Given the description of an element on the screen output the (x, y) to click on. 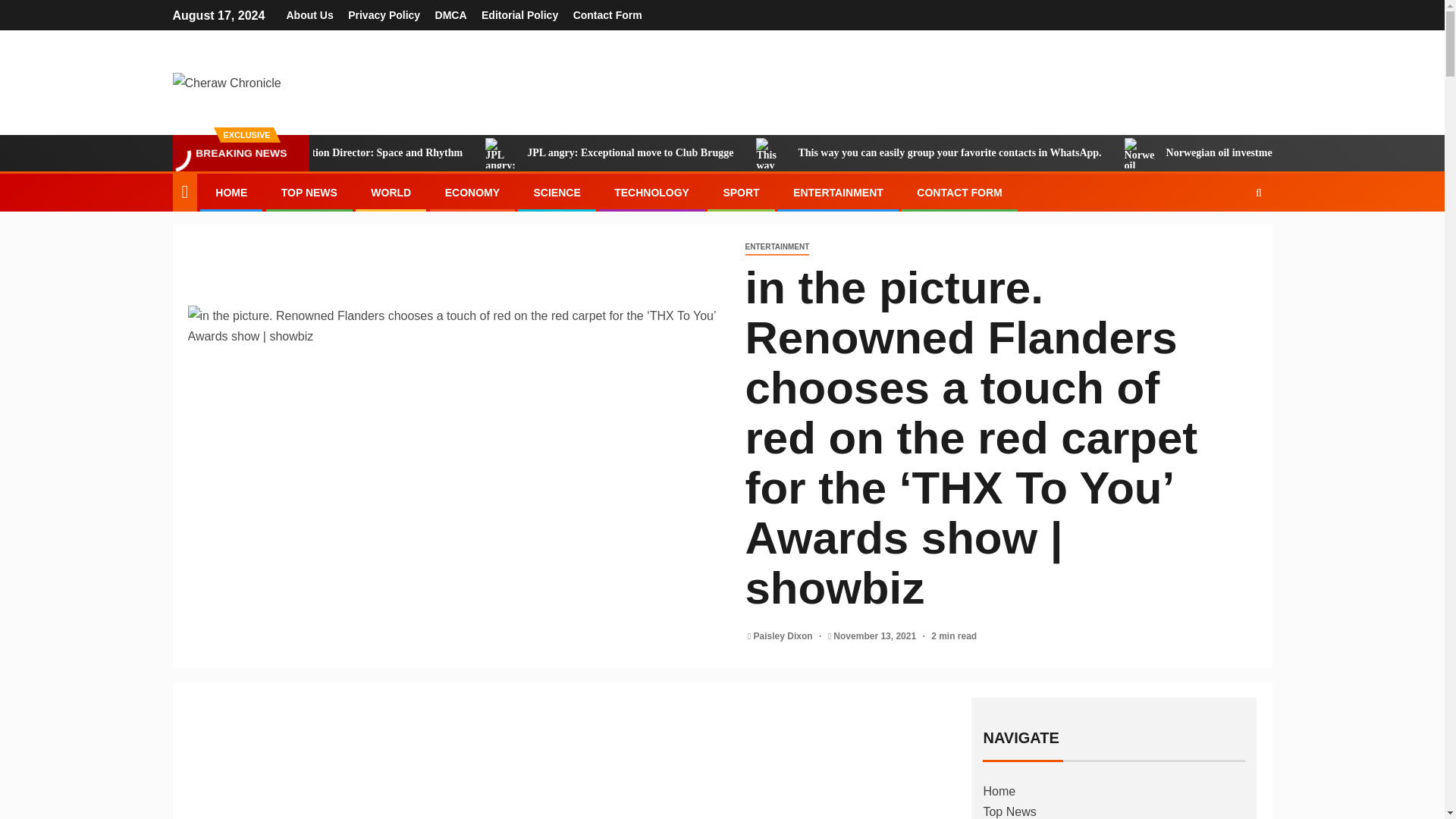
TECHNOLOGY (651, 192)
SCIENCE (555, 192)
ENTERTAINMENT (838, 192)
DMCA (451, 15)
WORLD (390, 192)
HOME (231, 192)
SPORT (740, 192)
Privacy Policy (383, 15)
About Us (309, 15)
